Given the description of an element on the screen output the (x, y) to click on. 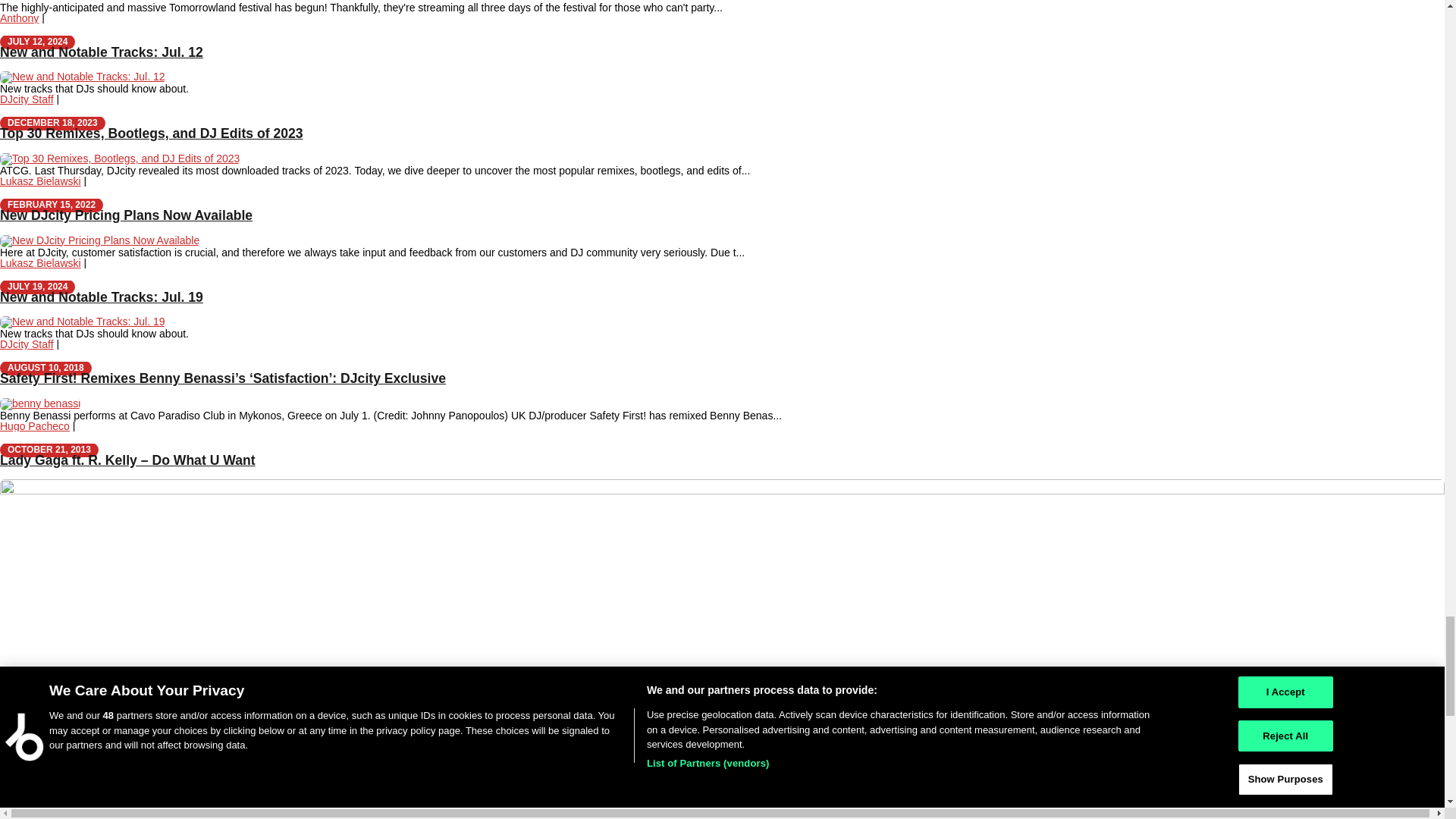
DJcity Staff (26, 99)
Anthony (19, 18)
New and Notable Tracks: Jul. 12 (101, 52)
